Given the description of an element on the screen output the (x, y) to click on. 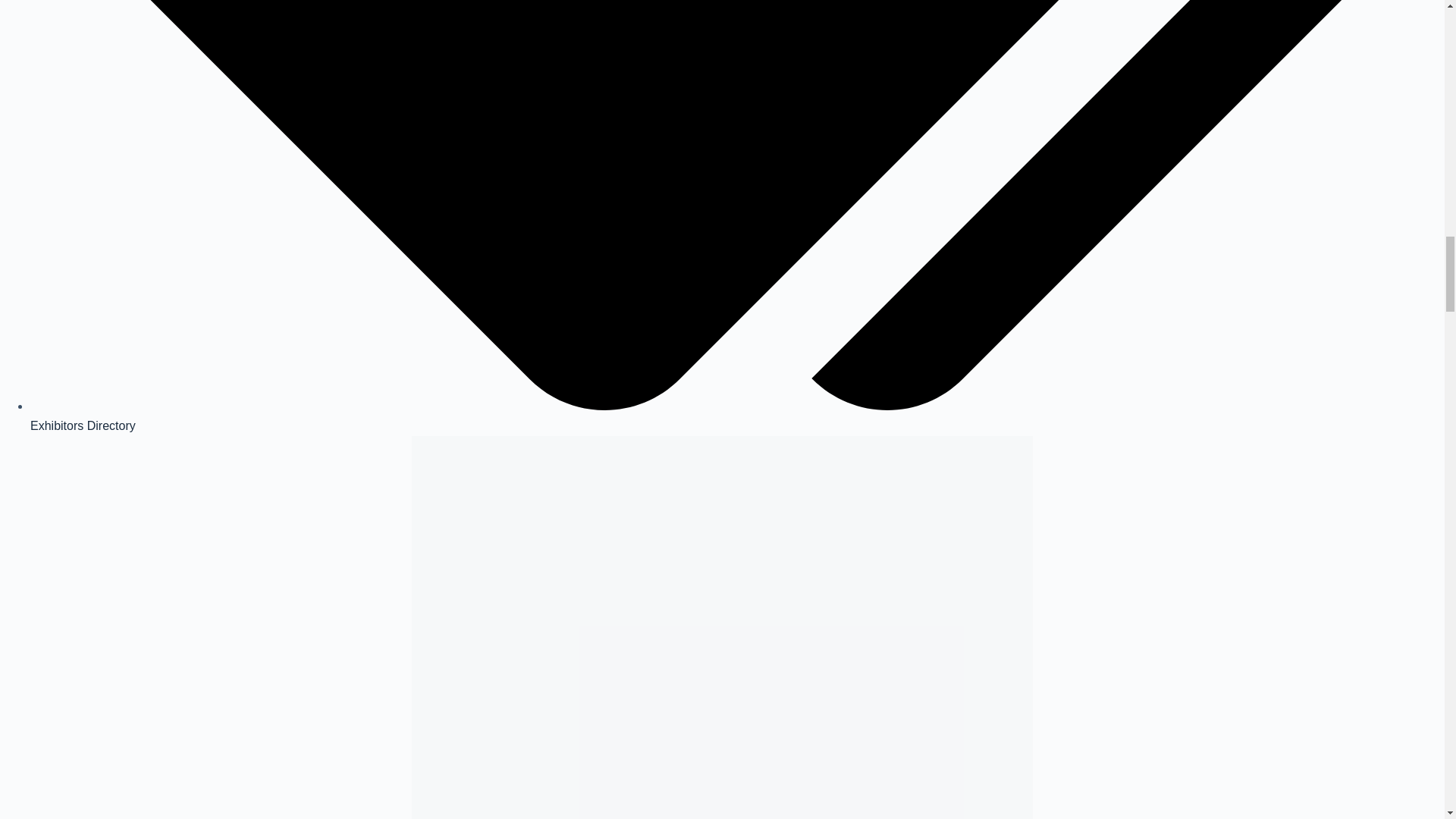
Exhibitors Directory (82, 425)
